Given the description of an element on the screen output the (x, y) to click on. 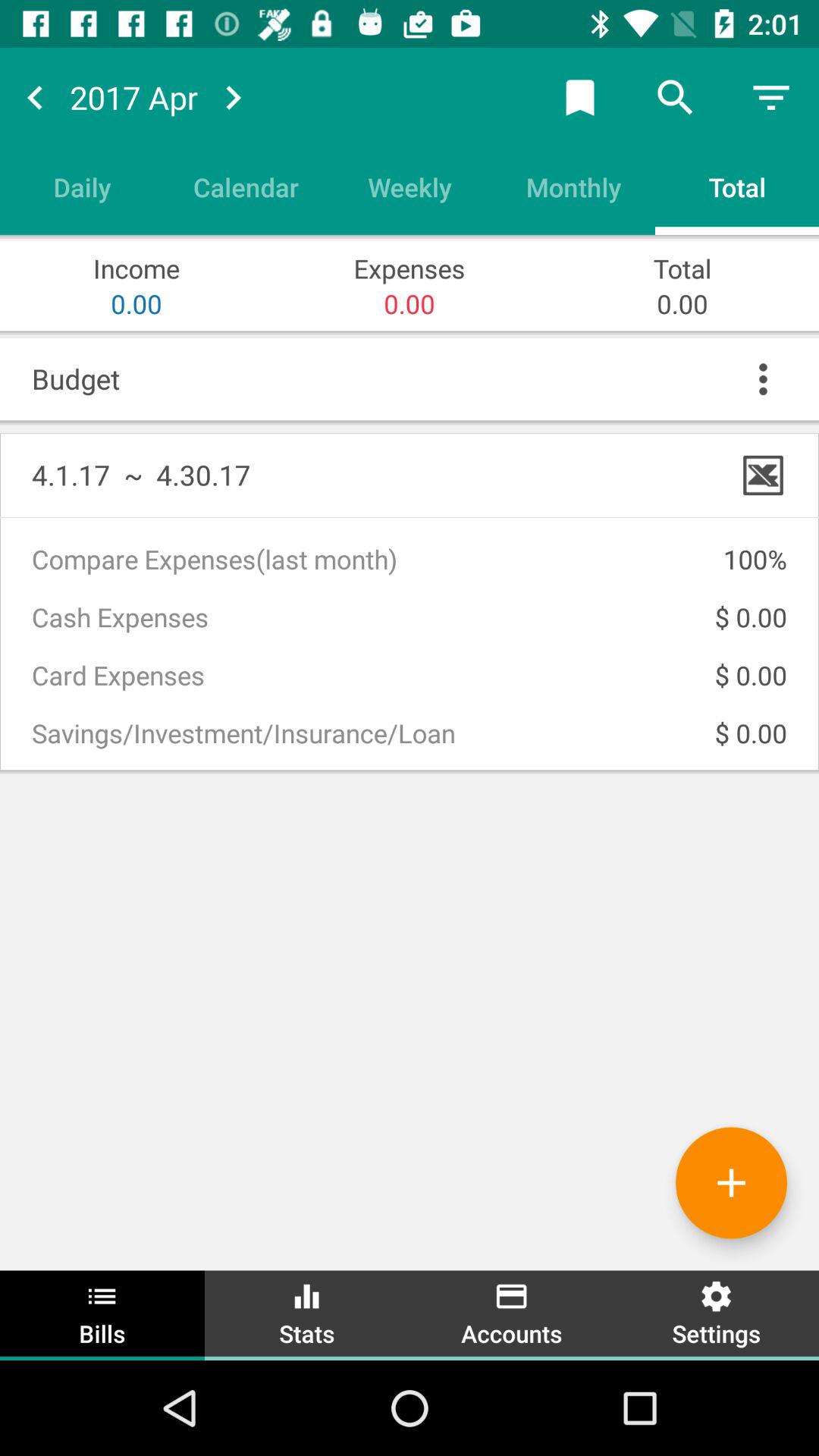
scroll to the daily icon (81, 186)
